Given the description of an element on the screen output the (x, y) to click on. 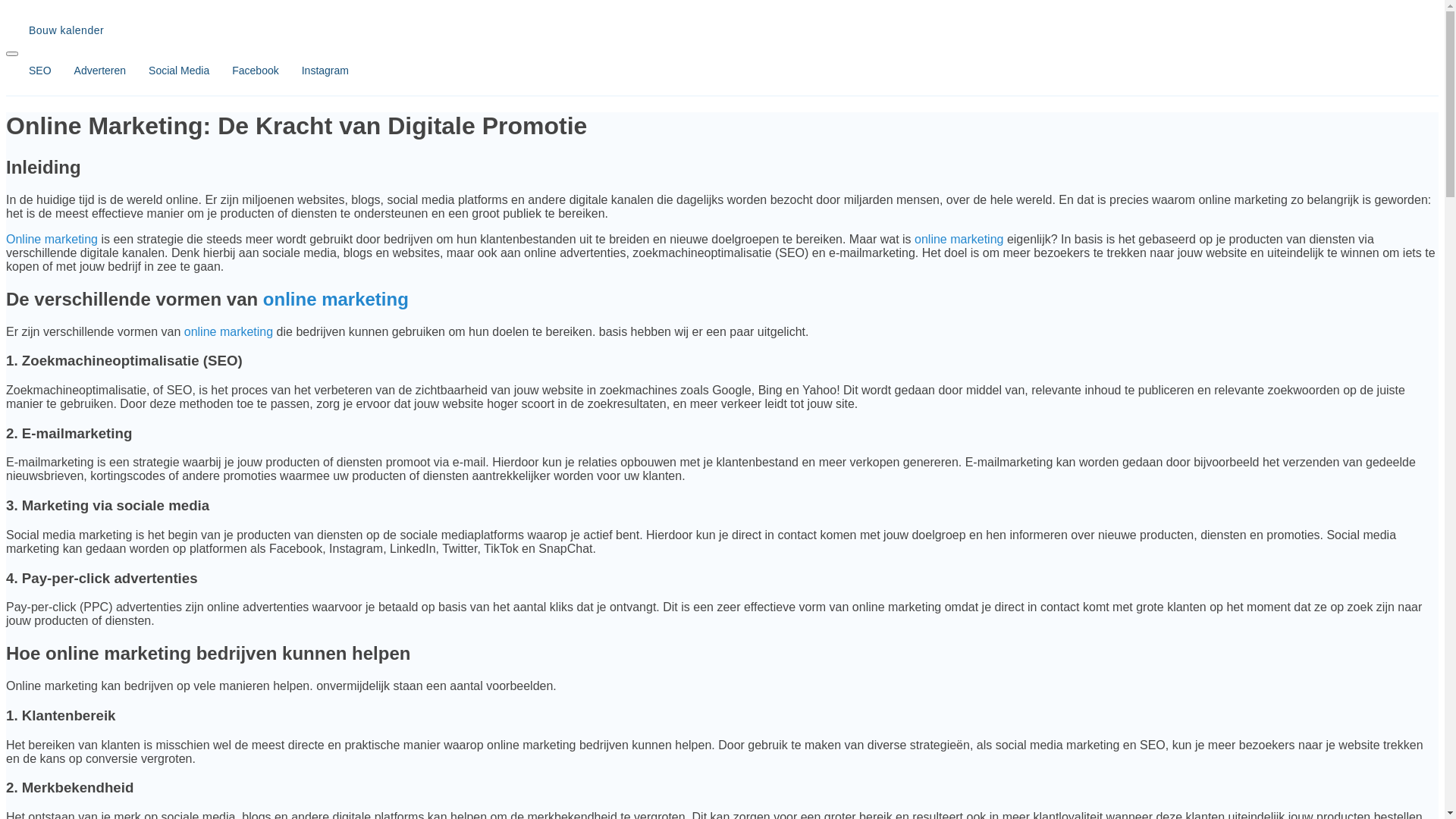
online marketing Element type: text (335, 298)
SEO Element type: text (28, 70)
Bouw kalender Element type: text (722, 30)
online marketing Element type: text (958, 238)
Online marketing Element type: text (51, 238)
online marketing Element type: text (228, 331)
Facebook Element type: text (243, 70)
Adverteren Element type: text (88, 70)
Social Media Element type: text (167, 70)
Instagram Element type: text (313, 70)
